Given the description of an element on the screen output the (x, y) to click on. 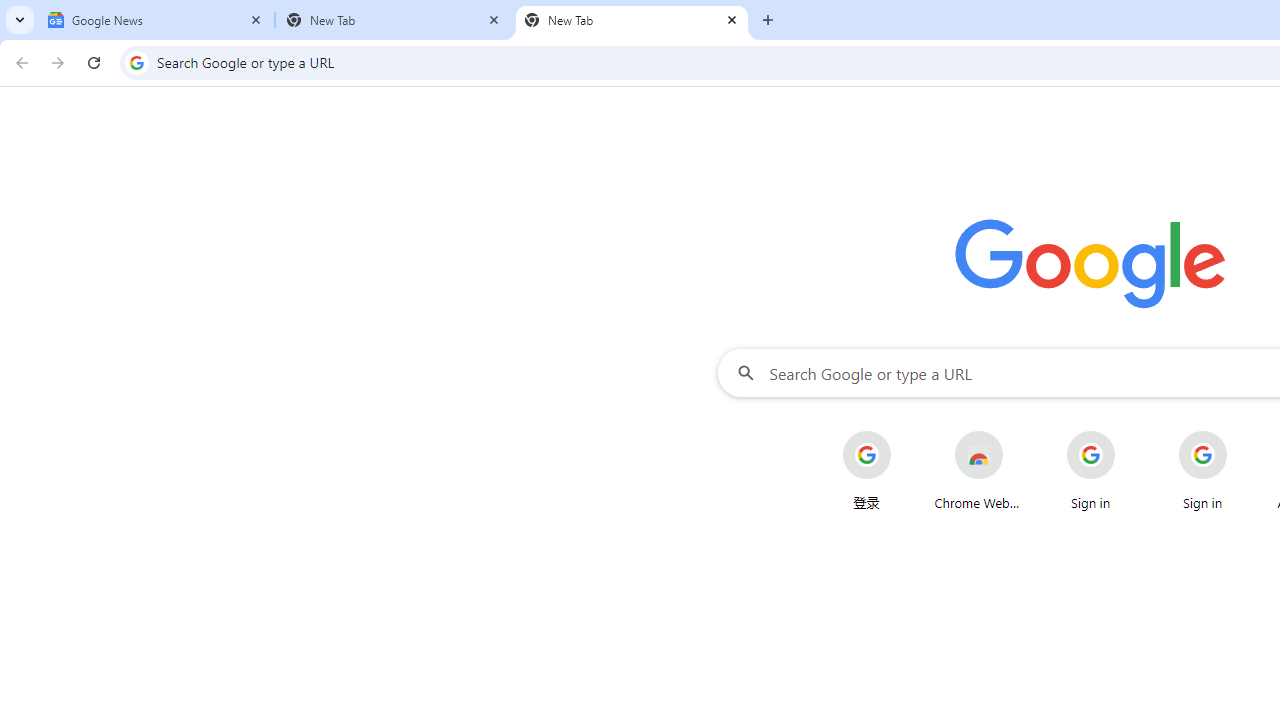
More actions for Chrome Web Store shortcut (1017, 433)
Search icon (136, 62)
New Tab (632, 20)
Google News (156, 20)
Chrome Web Store (978, 470)
More actions for Sign in shortcut (1241, 433)
